Given the description of an element on the screen output the (x, y) to click on. 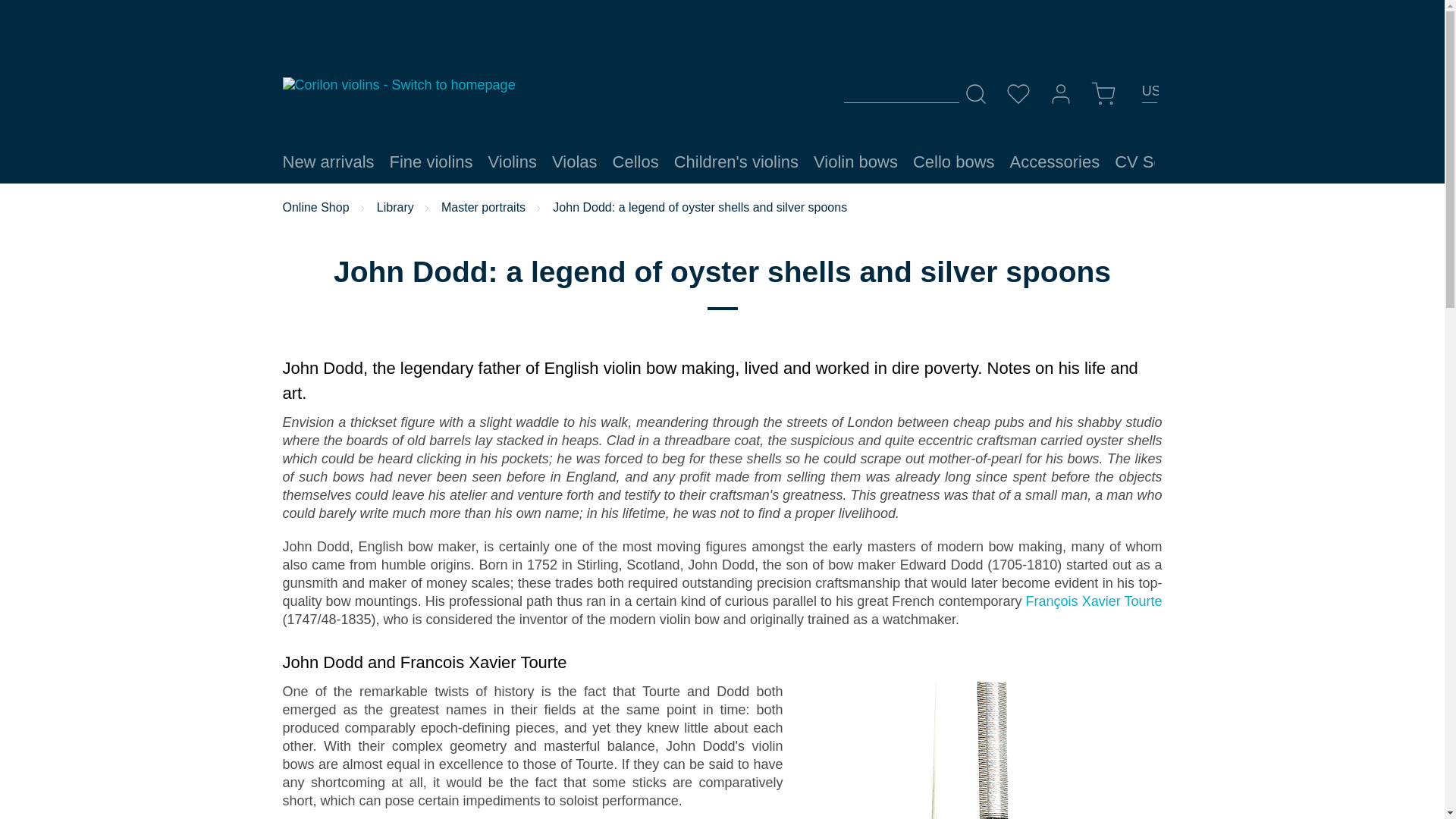
Violas (574, 161)
Corilon violins - Switch to homepage (398, 84)
CV Selectio (1157, 161)
New arrivals (328, 161)
Fine violins (430, 161)
Icon (1017, 93)
Violins (512, 161)
Icon (974, 93)
Children's violins (736, 161)
Cello bows (954, 161)
